Given the description of an element on the screen output the (x, y) to click on. 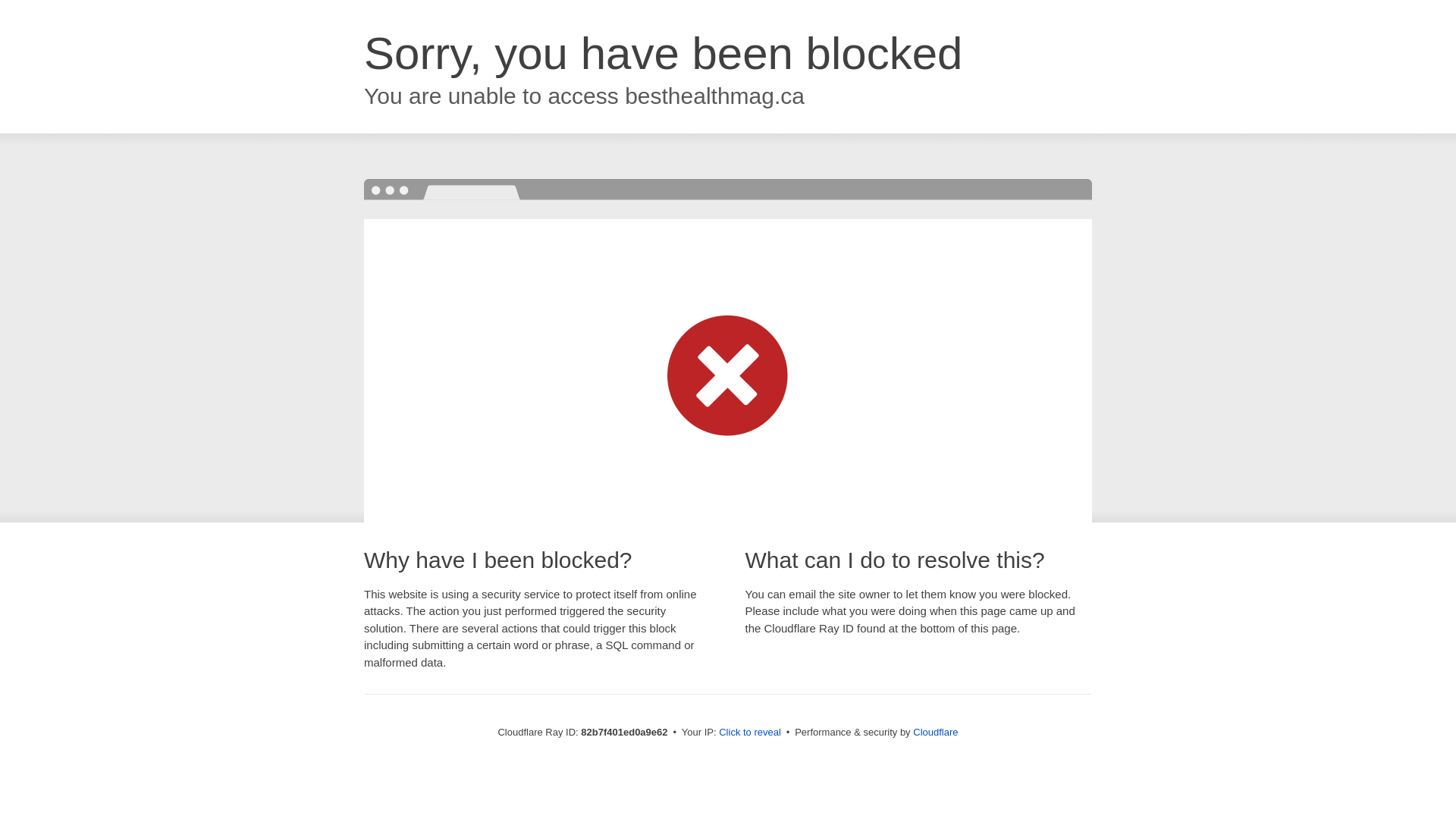
Cloudflare Element type: text (935, 731)
Click to reveal Element type: text (749, 732)
